Given the description of an element on the screen output the (x, y) to click on. 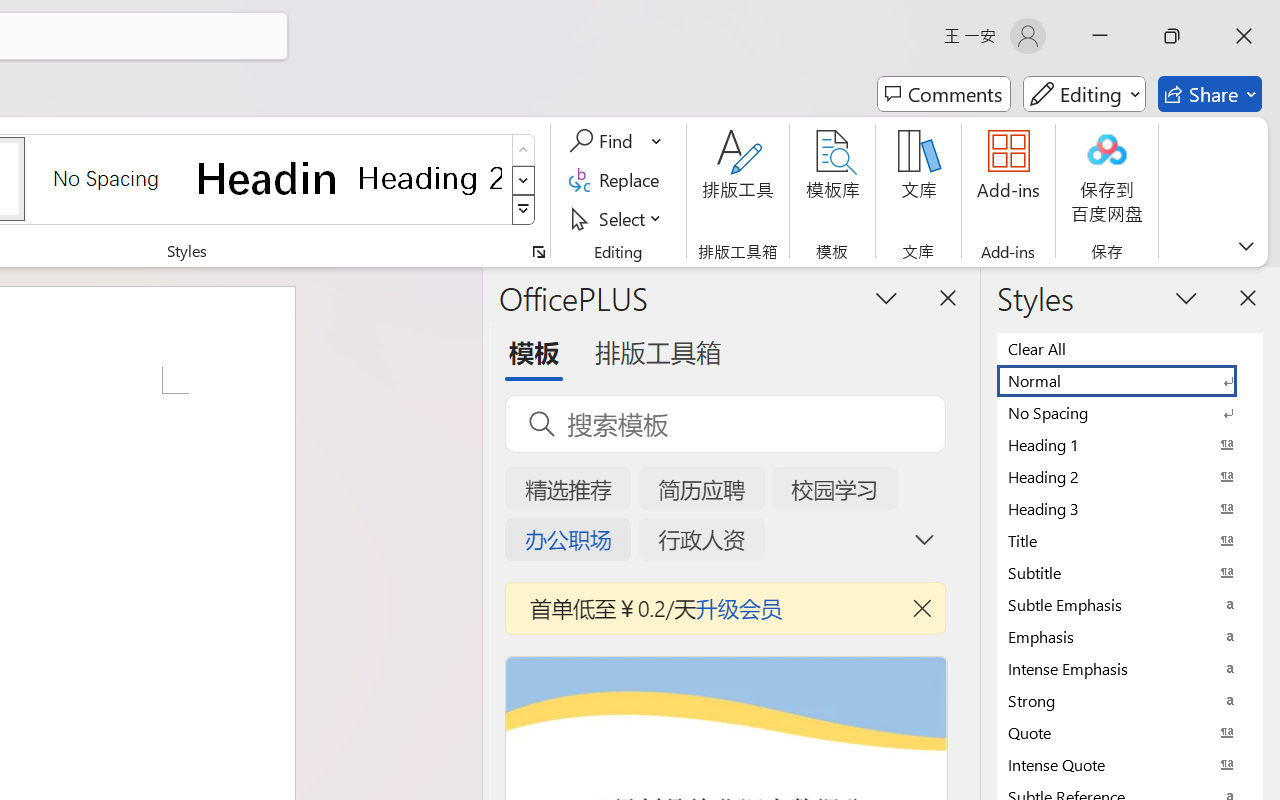
Row up (523, 150)
Styles (523, 209)
Styles... (538, 252)
Strong (1130, 700)
Heading 1 (267, 178)
Heading 2 (429, 178)
Emphasis (1130, 636)
Class: NetUIImage (523, 210)
Intense Quote (1130, 764)
